Given the description of an element on the screen output the (x, y) to click on. 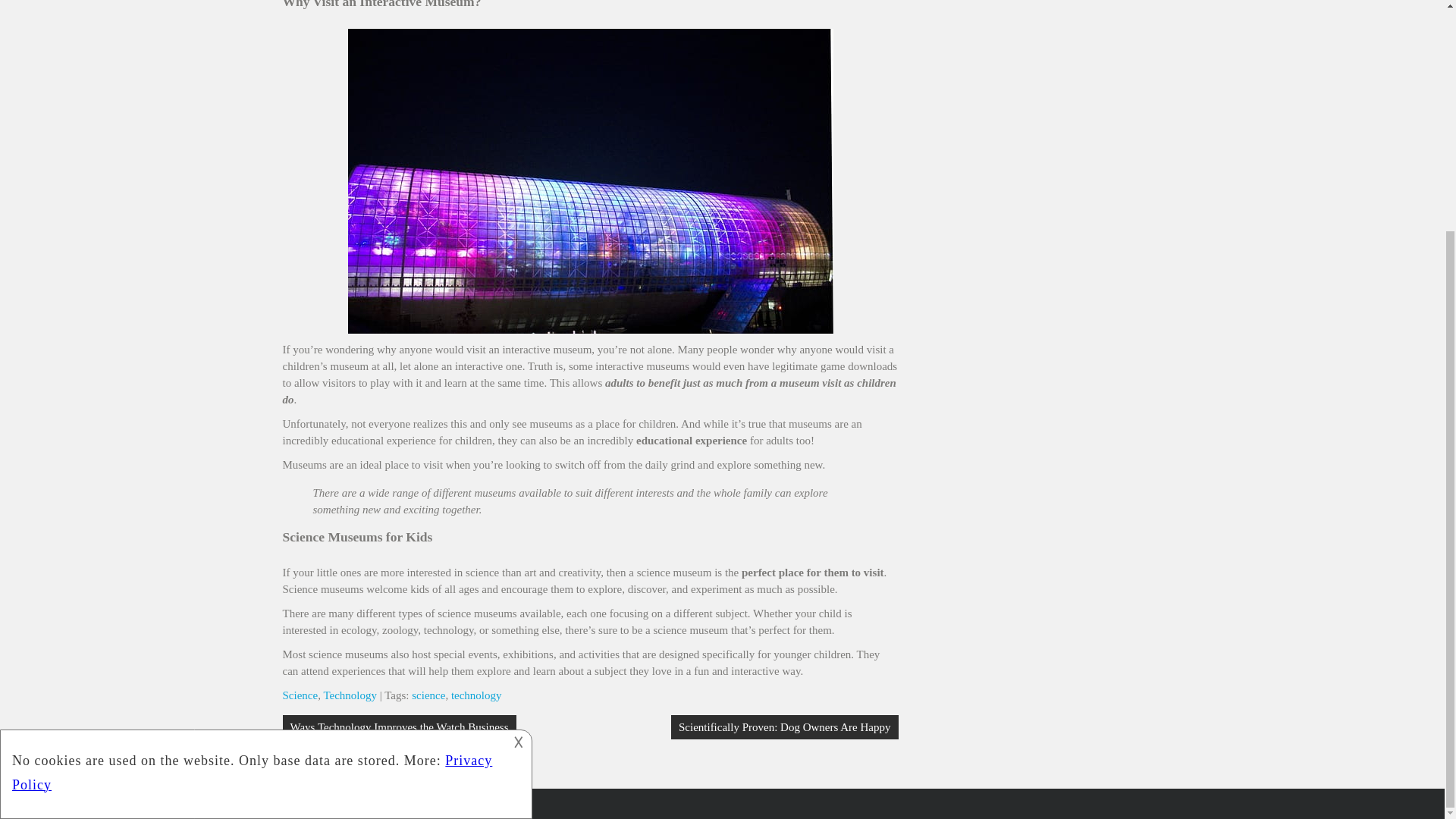
Scientifically Proven: Dog Owners Are Happy (784, 726)
science (428, 695)
Technology (350, 695)
technology (476, 695)
description (264, 458)
Ways Technology Improves the Watch Business (398, 726)
Science (299, 695)
